Given the description of an element on the screen output the (x, y) to click on. 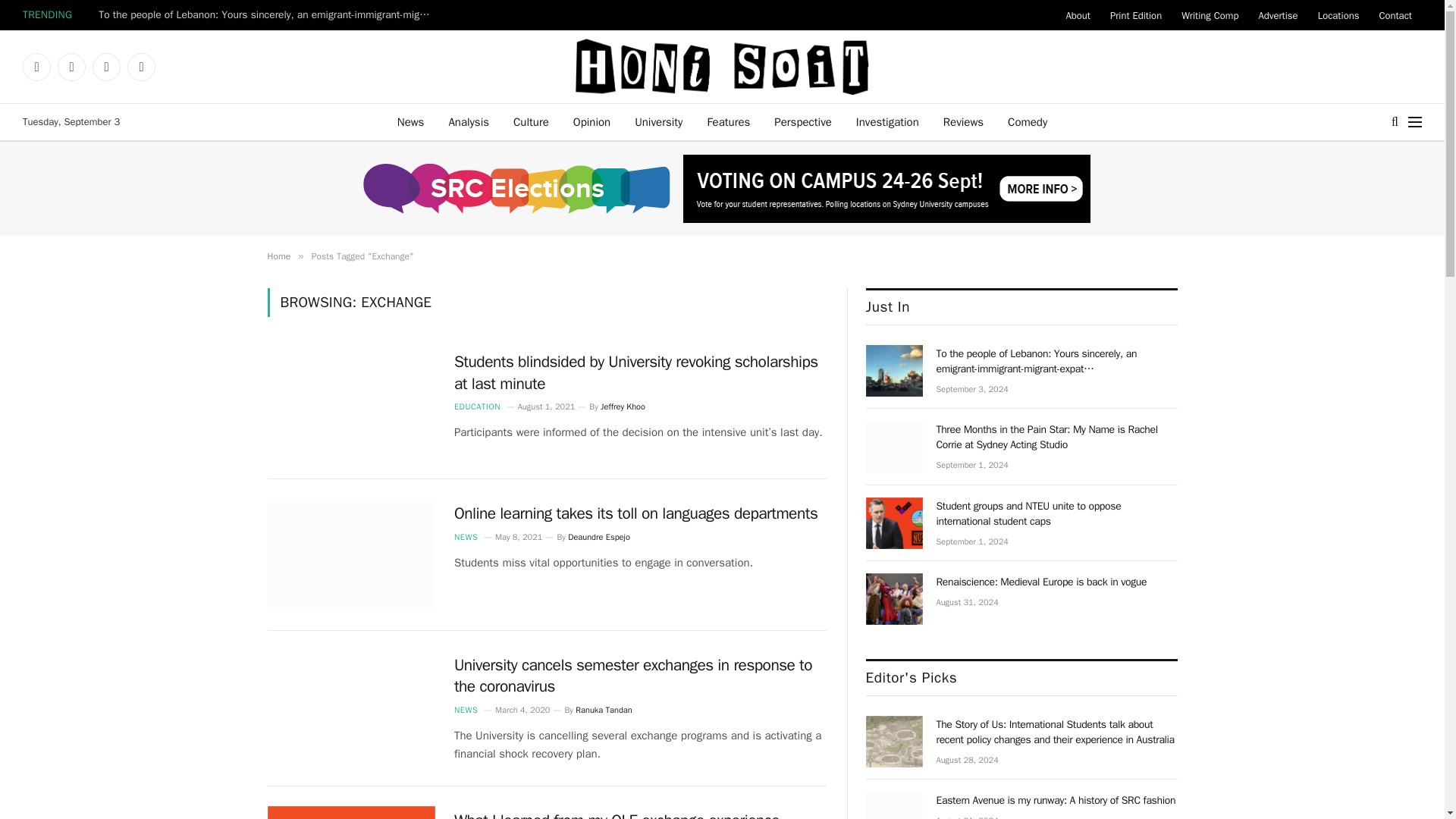
About (1077, 15)
University (658, 122)
Instagram (71, 67)
Reviews (963, 122)
Investigation (887, 122)
Facebook (36, 67)
What I learned from my OLE exchange experience (349, 812)
Opinion (591, 122)
Features (727, 122)
Culture (530, 122)
